Given the description of an element on the screen output the (x, y) to click on. 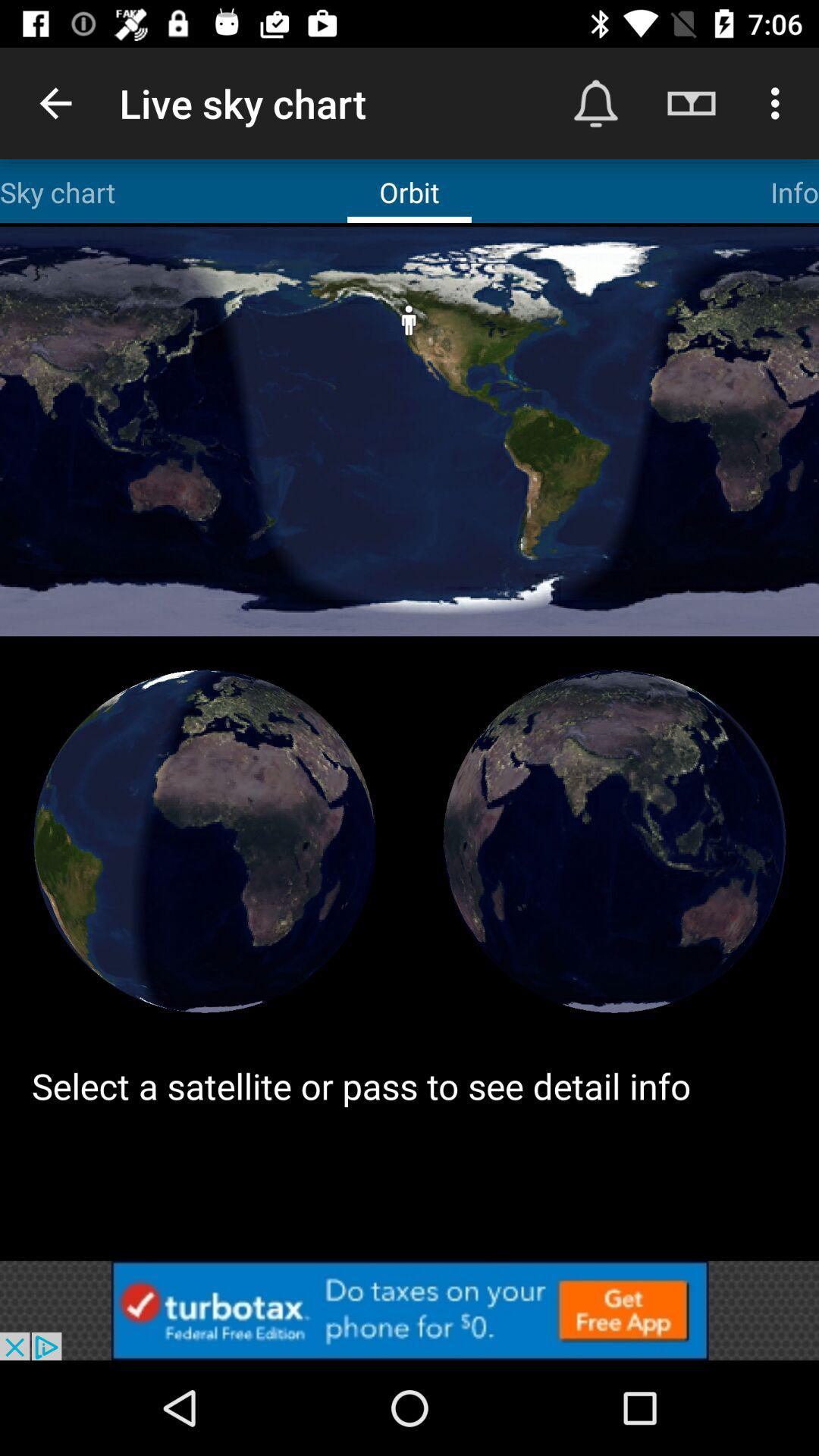
turbotax banner advertisement (409, 1310)
